Given the description of an element on the screen output the (x, y) to click on. 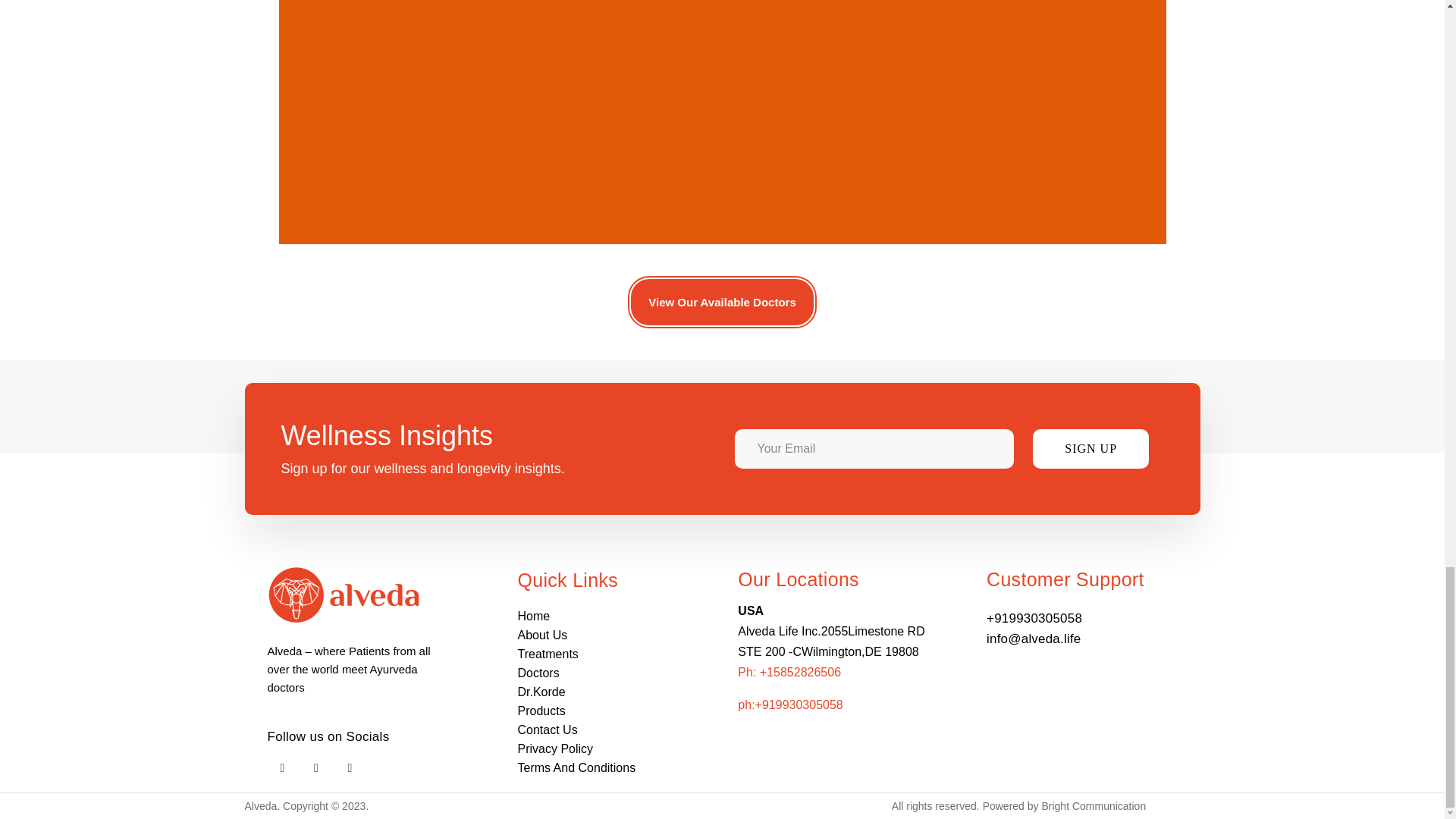
View Our Available Doctors (722, 302)
Products (604, 710)
Doctors (604, 672)
Contact Us (604, 729)
Privacy Policy (604, 748)
Home (604, 615)
Treatments (604, 653)
Dr.Korde (604, 691)
About Us (604, 634)
SIGN UP (1090, 448)
